Given the description of an element on the screen output the (x, y) to click on. 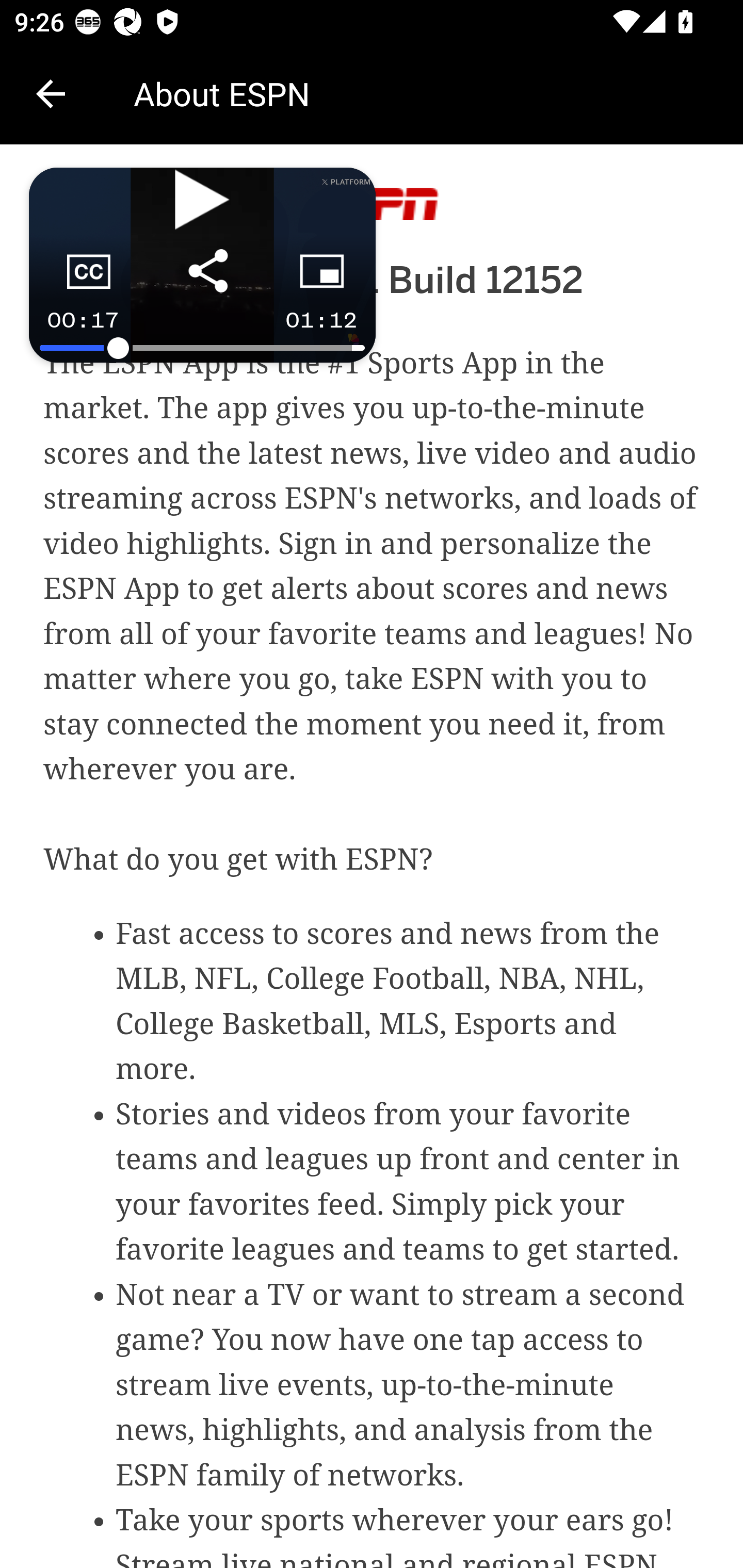
Navigate up (50, 93)
